Given the description of an element on the screen output the (x, y) to click on. 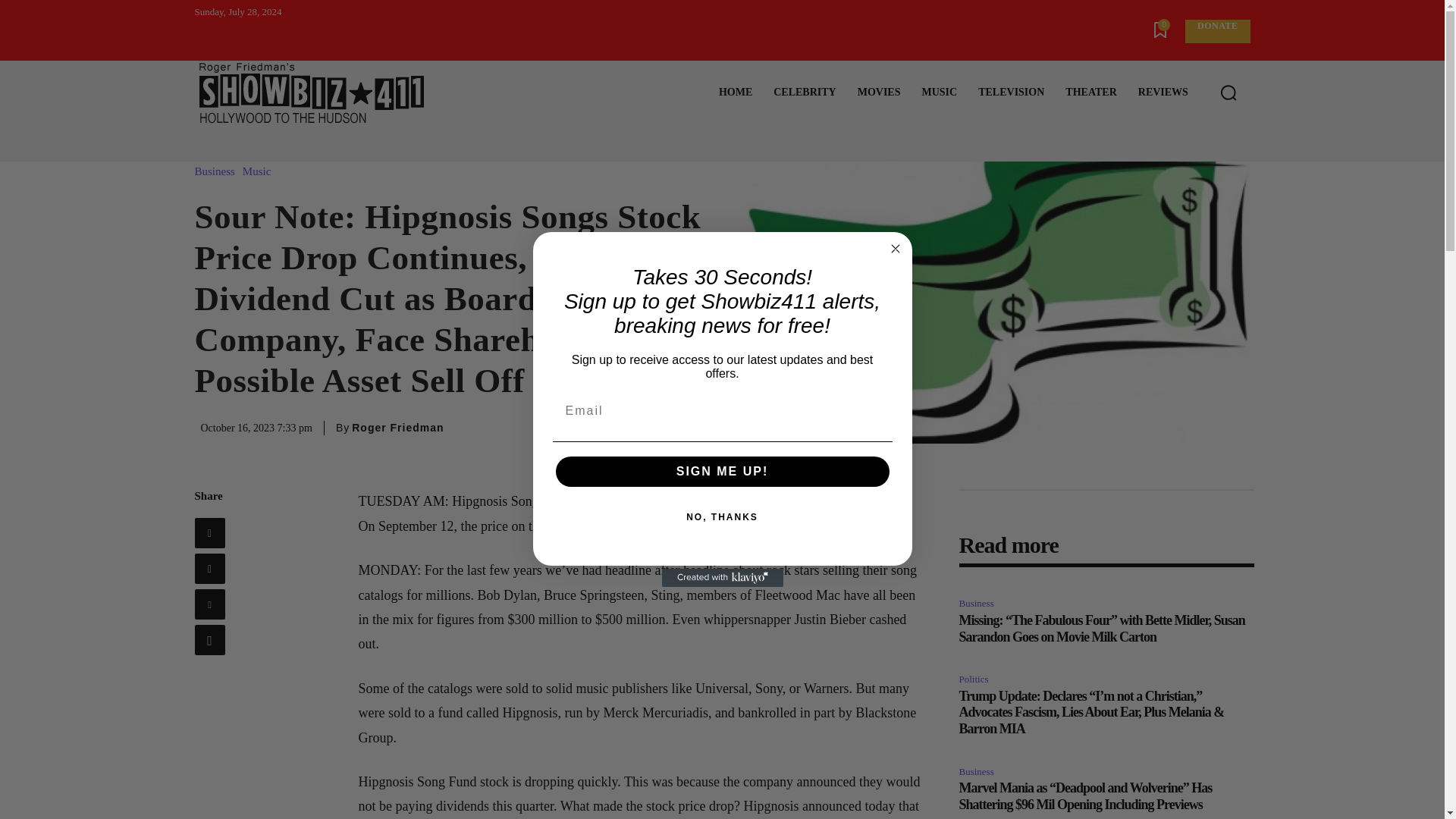
REVIEWS (1162, 92)
Donate (1217, 31)
Business (217, 171)
THEATER (1090, 92)
MUSIC (939, 92)
HOME (734, 92)
MOVIES (879, 92)
DONATE (1217, 31)
Pinterest (208, 603)
Twitter (208, 568)
Facebook (208, 532)
TELEVISION (1011, 92)
CELEBRITY (803, 92)
WhatsApp (208, 639)
